Given the description of an element on the screen output the (x, y) to click on. 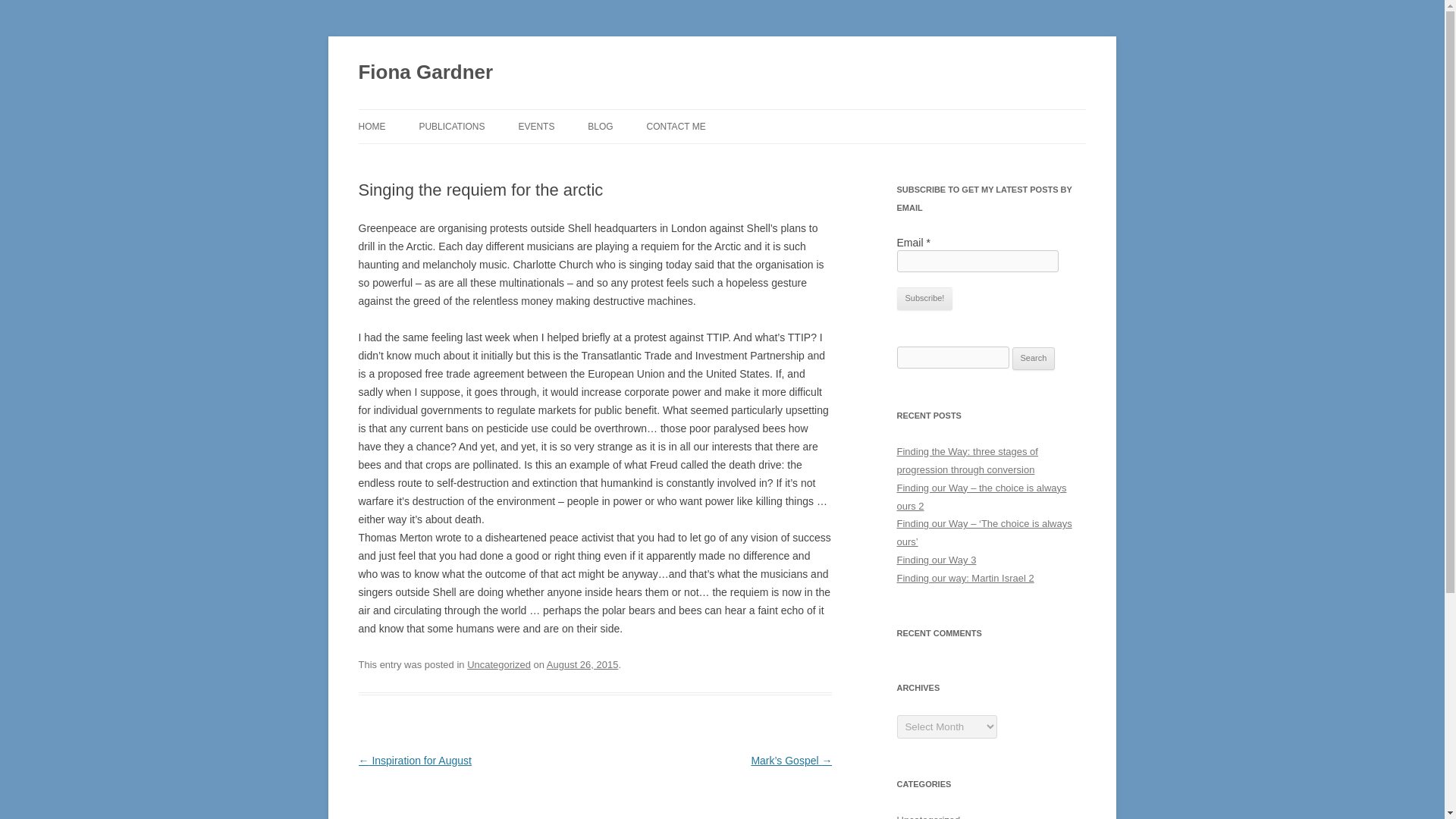
Email (977, 260)
Fiona Gardner (425, 72)
CONTACT ME (676, 126)
EVENTS (536, 126)
Search (1033, 358)
August 26, 2015 (582, 664)
Subscribe! (924, 298)
PUBLICATIONS (451, 126)
Subscribe! (924, 298)
